Given the description of an element on the screen output the (x, y) to click on. 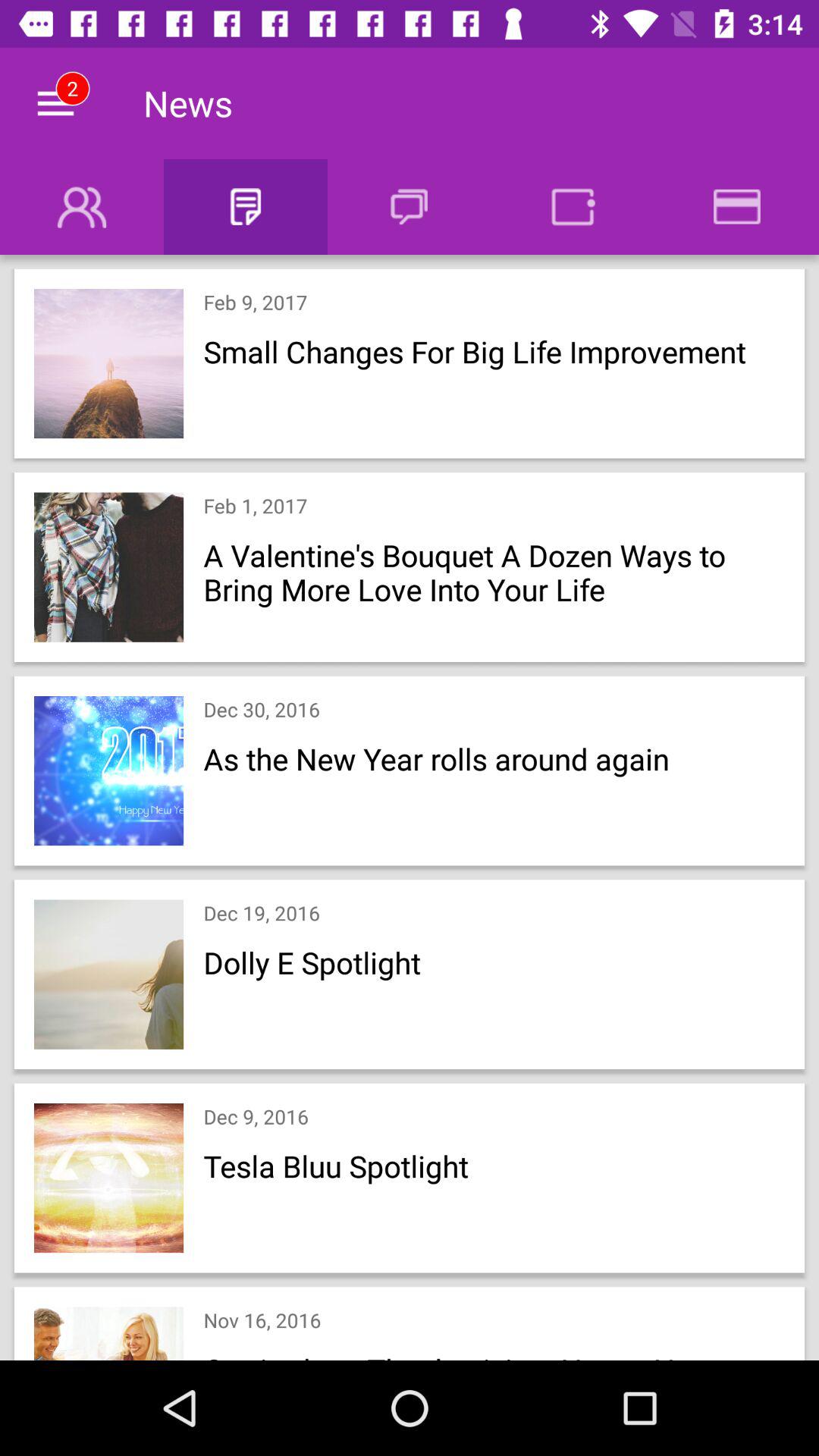
press the item next to news item (55, 103)
